Given the description of an element on the screen output the (x, y) to click on. 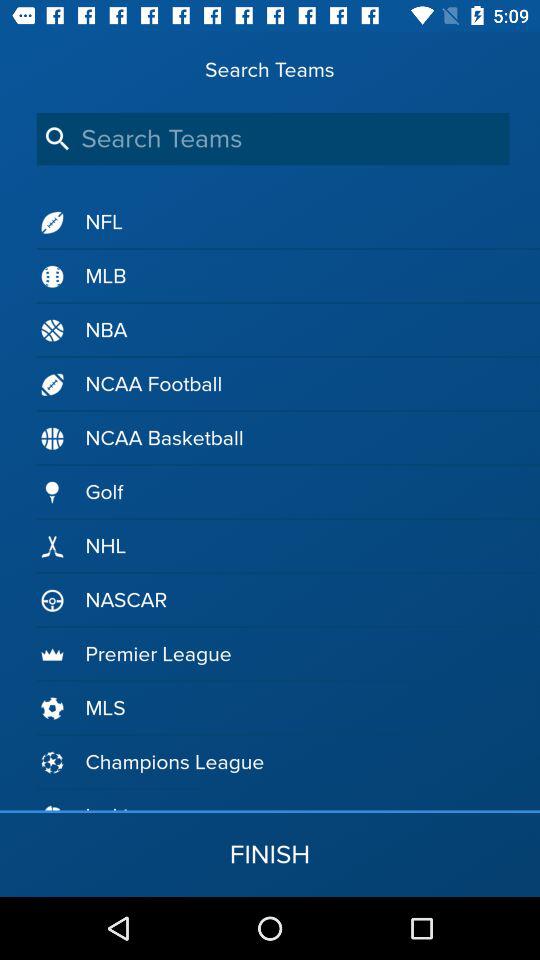
select the finish (270, 854)
